Given the description of an element on the screen output the (x, y) to click on. 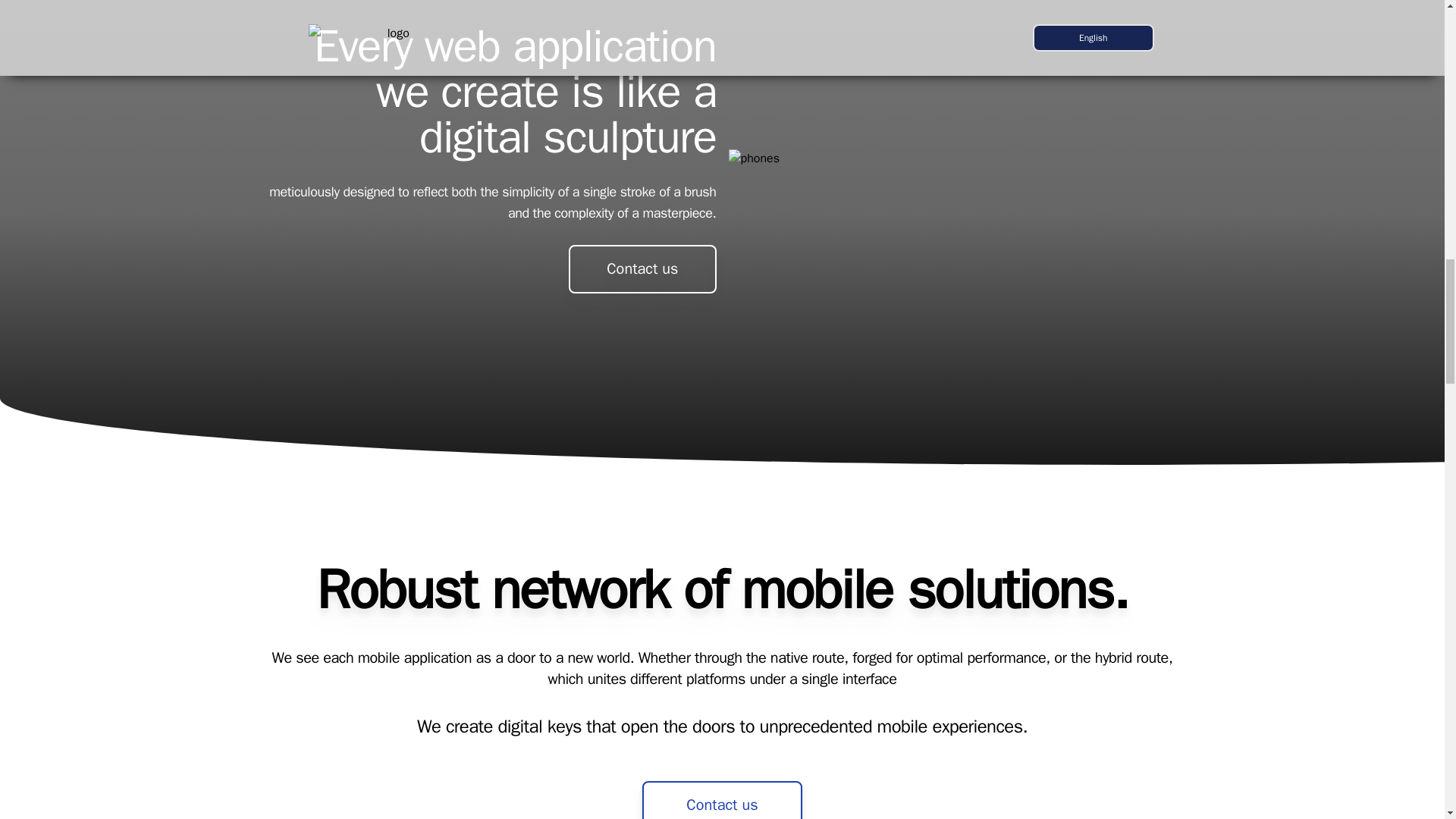
Contact us (722, 800)
Contact us (642, 268)
